Given the description of an element on the screen output the (x, y) to click on. 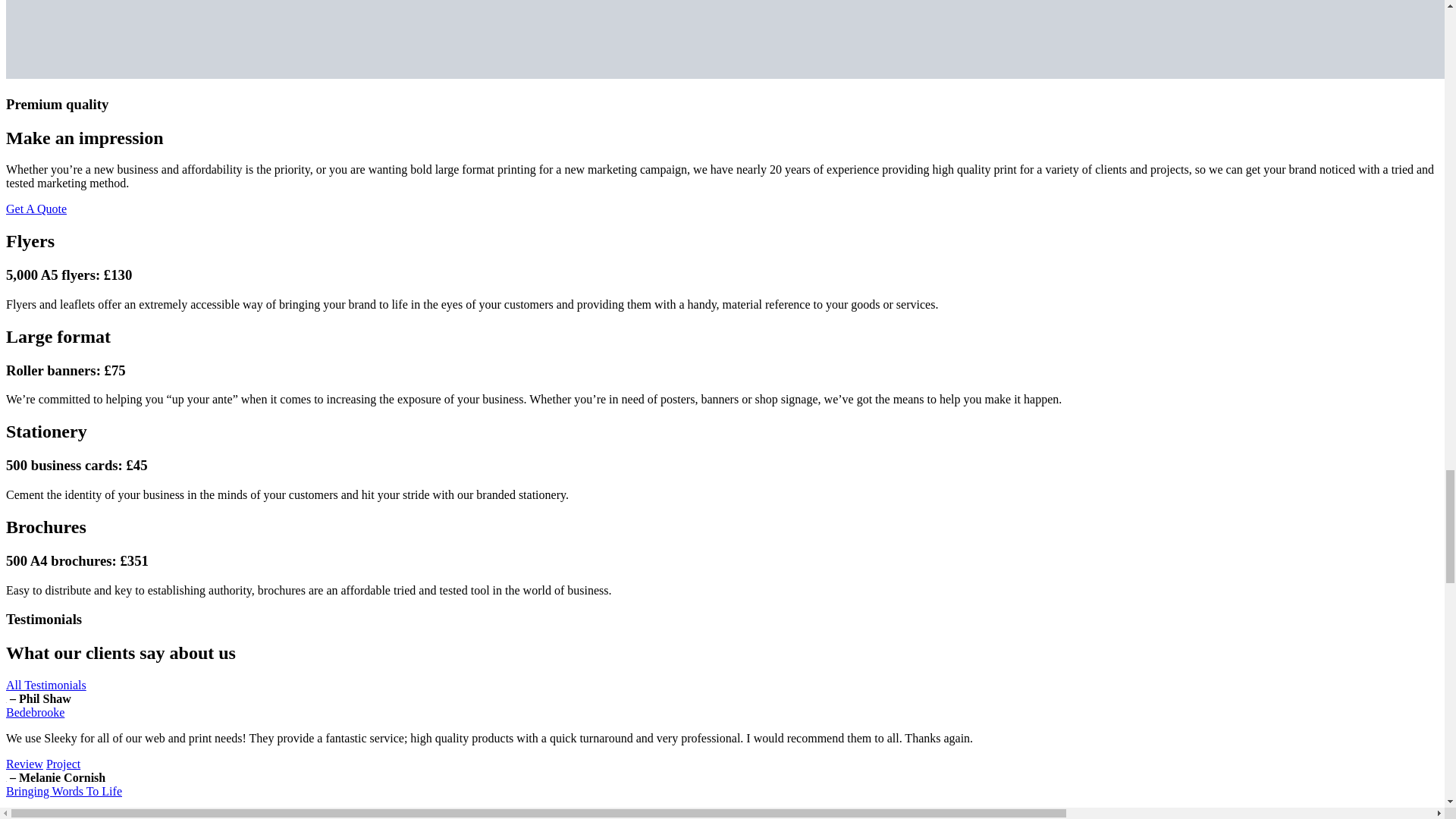
Get A Quote (35, 208)
